Given the description of an element on the screen output the (x, y) to click on. 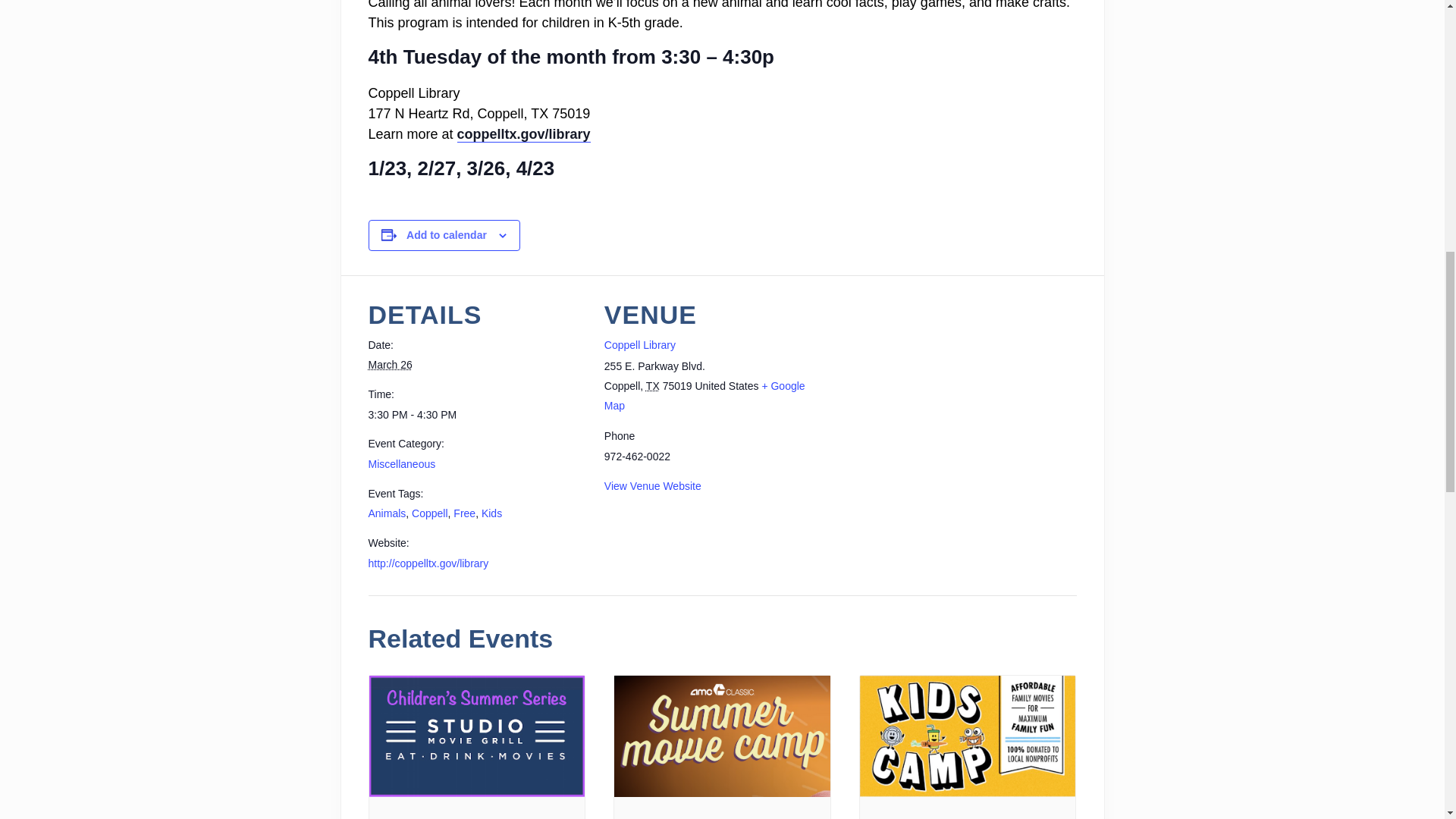
Click to view a Google Map (704, 395)
Google maps iframe displaying the address to Coppell Library (949, 380)
Texas (652, 386)
2024-03-26 (477, 415)
2024-03-26 (390, 364)
